Given the description of an element on the screen output the (x, y) to click on. 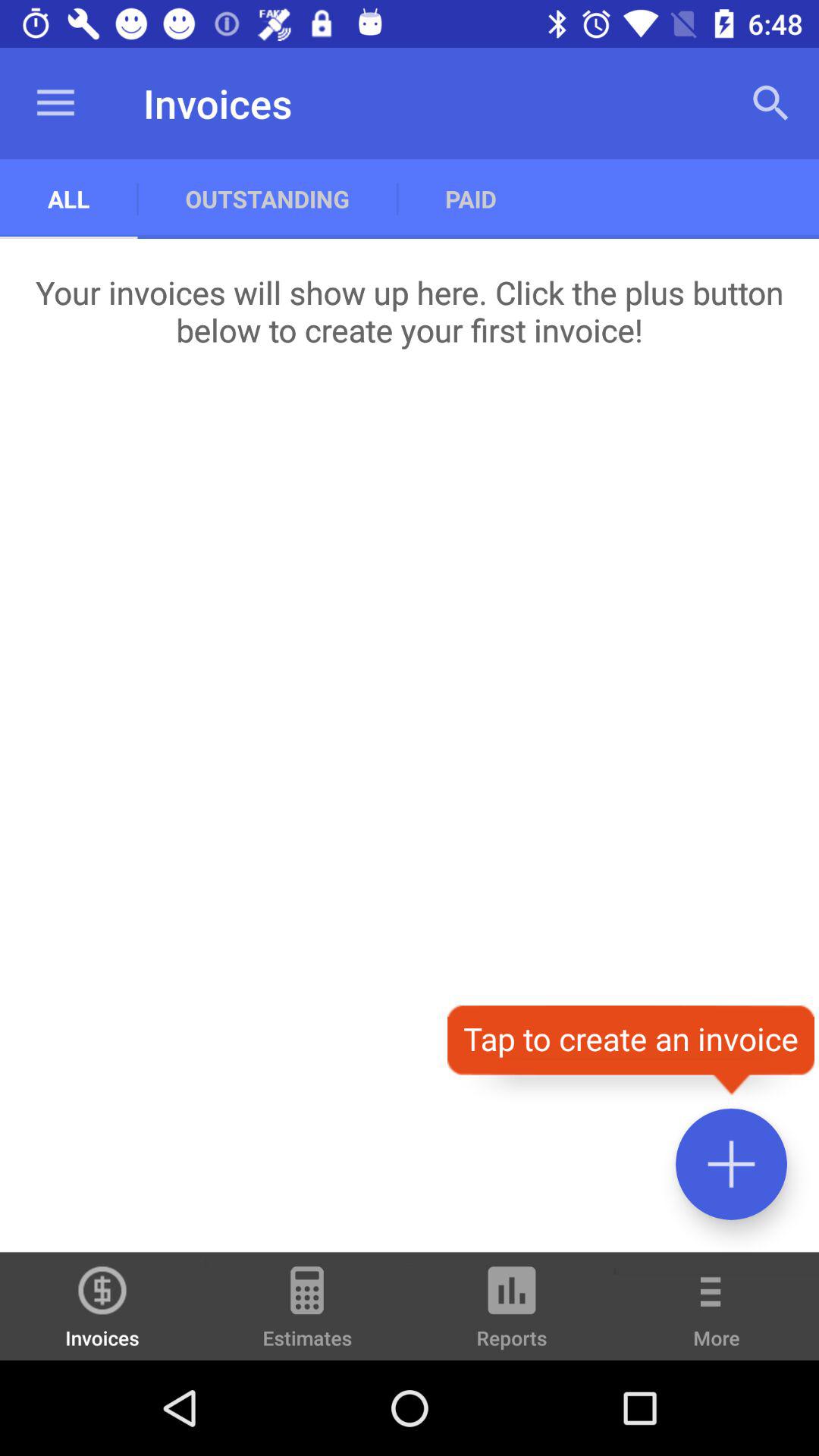
turn off the app next to the paid (771, 103)
